Given the description of an element on the screen output the (x, y) to click on. 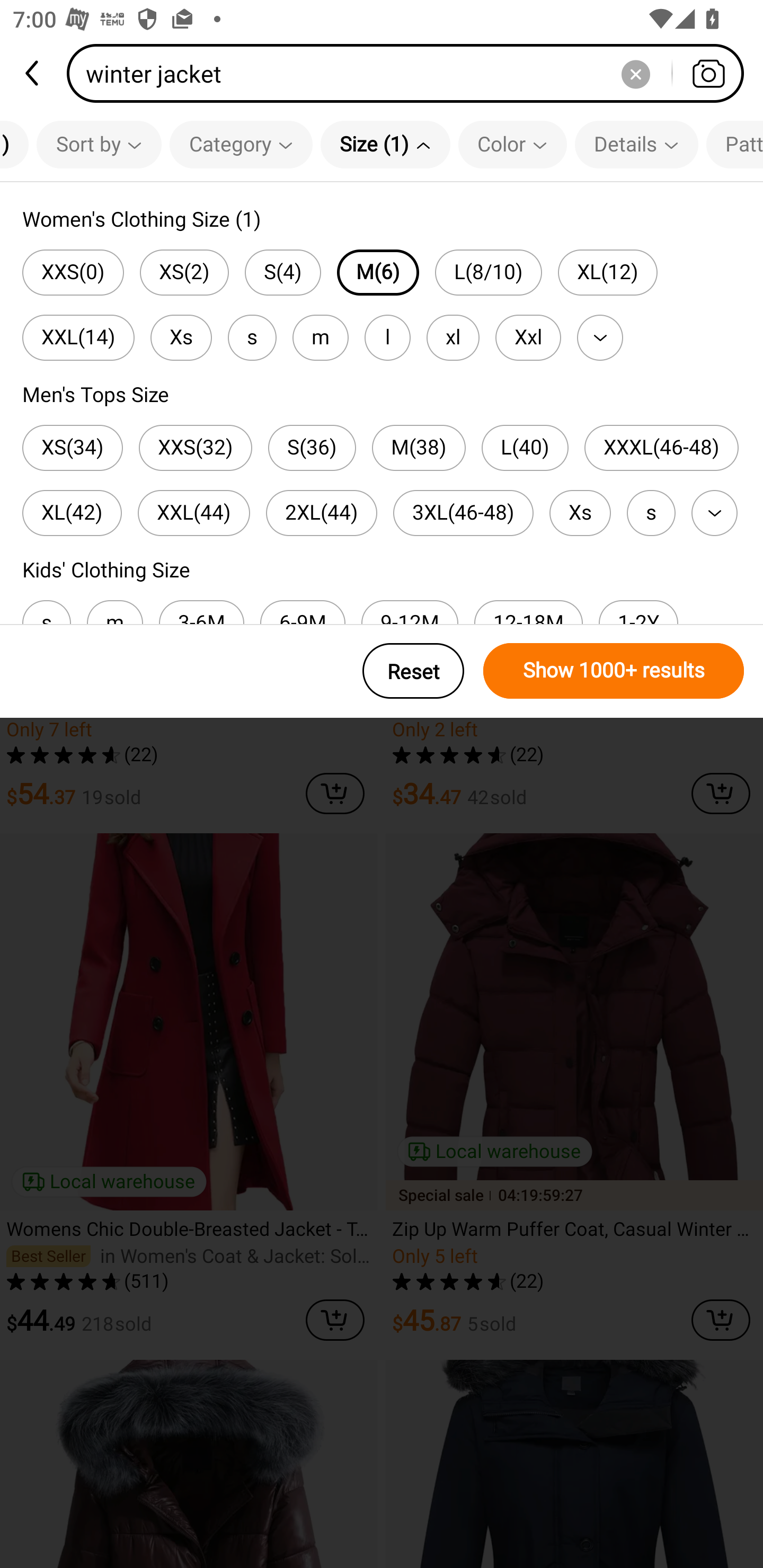
back (33, 72)
winter jacket (411, 73)
Delete search history (635, 73)
Search by photo (708, 73)
Sort by (98, 143)
Category (240, 143)
Size (1) (385, 143)
Color (512, 143)
Details (636, 143)
Patterned (734, 143)
XXS(0) (72, 272)
XS(2) (183, 272)
S(4) (282, 272)
M(6) (377, 272)
L(8/10) (487, 272)
XL(12) (607, 272)
XXL(14) (78, 337)
Xs (181, 337)
s (252, 337)
m (320, 337)
l (387, 337)
xl (452, 337)
Xxl (527, 337)
More (599, 337)
XS(34) (72, 447)
XXS(32) (195, 447)
S(36) (311, 447)
M(38) (418, 447)
L(40) (524, 447)
XXXL(46-48) (661, 447)
XL(42) (72, 512)
XXL(44) (194, 512)
2XL(44) (321, 512)
3XL(46-48) (462, 512)
Xs (580, 512)
s (651, 512)
More (714, 512)
Reset (412, 670)
Show 1000+ results (612, 670)
